Given the description of an element on the screen output the (x, y) to click on. 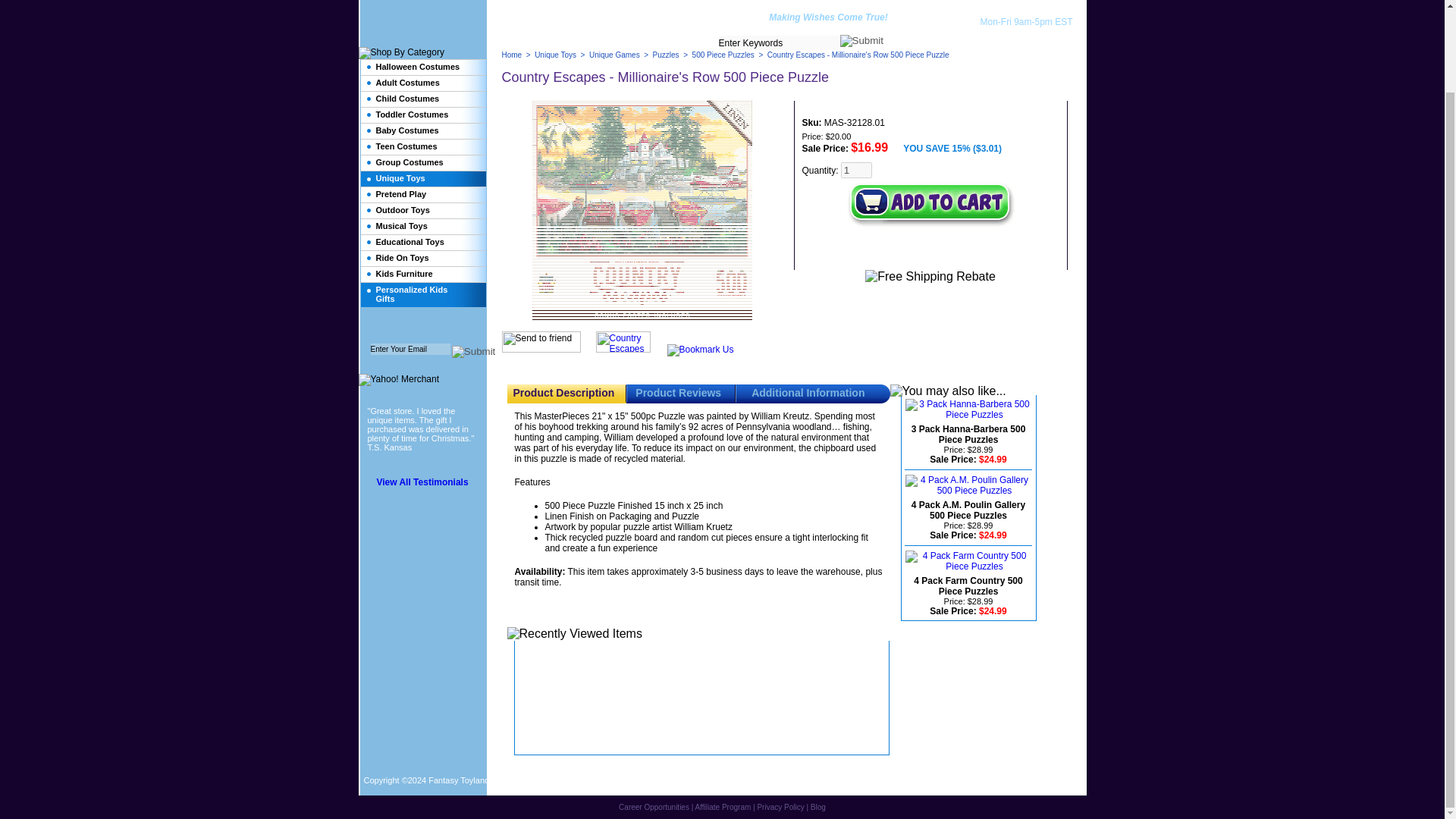
Home (512, 54)
Unique Toys (555, 54)
Product Description (563, 392)
Product Reviews (677, 392)
Costume (794, 6)
Search (861, 40)
Enter Your Email (409, 348)
bookmark this page (699, 348)
Enter Keywords (779, 42)
Country Escapes - Millionaire's Row 500 Piece Puzzle (642, 212)
Submit (473, 351)
Additional Information (807, 392)
Unique Games (614, 54)
500 Piece Puzzles (723, 54)
1 (856, 170)
